Given the description of an element on the screen output the (x, y) to click on. 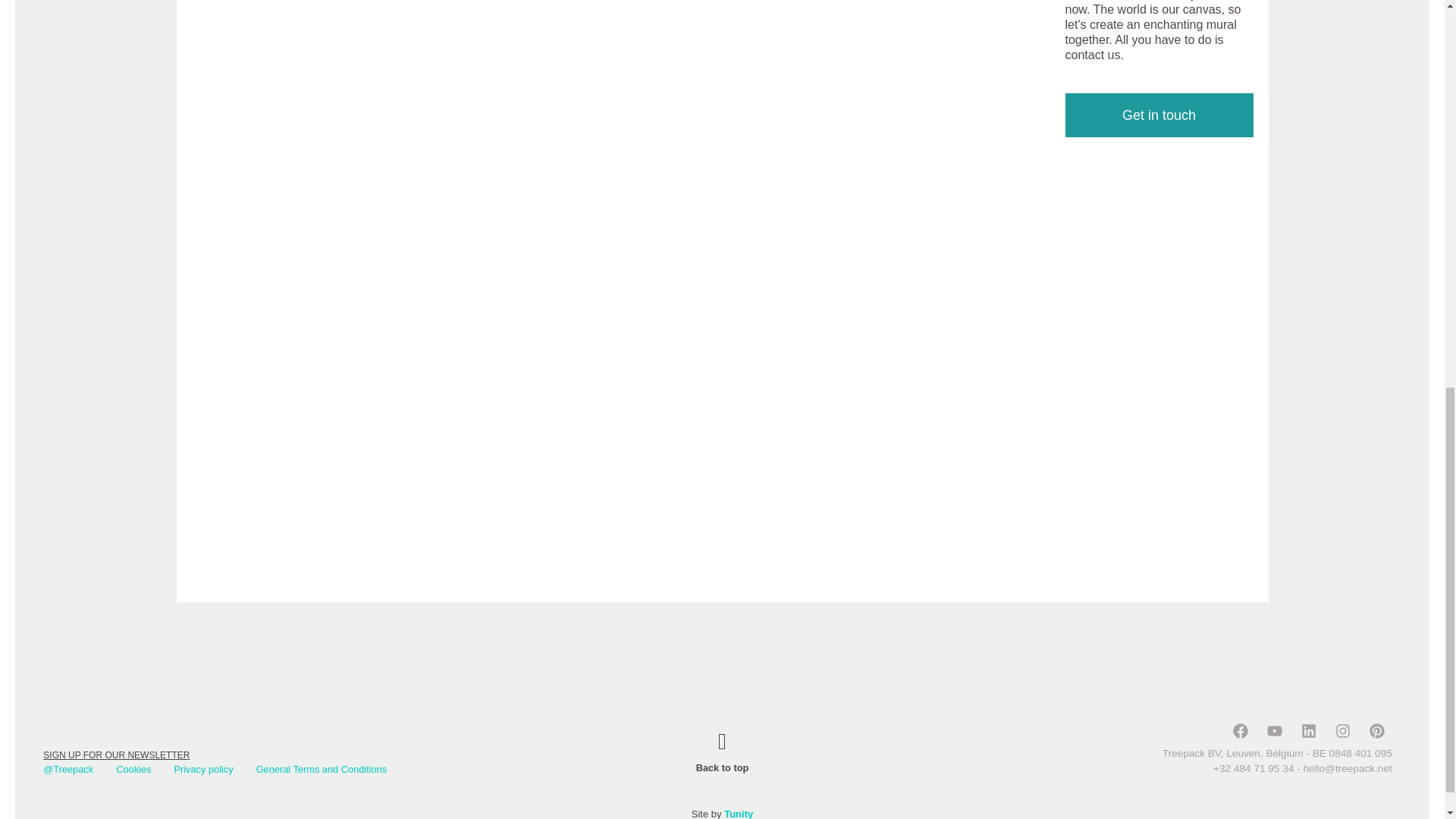
Back to top (722, 767)
Get in touch (1158, 115)
Privacy policy (202, 769)
General Terms and Conditions (321, 769)
SIGN UP FOR OUR NEWSLETTER (116, 755)
Cookies (133, 769)
